Given the description of an element on the screen output the (x, y) to click on. 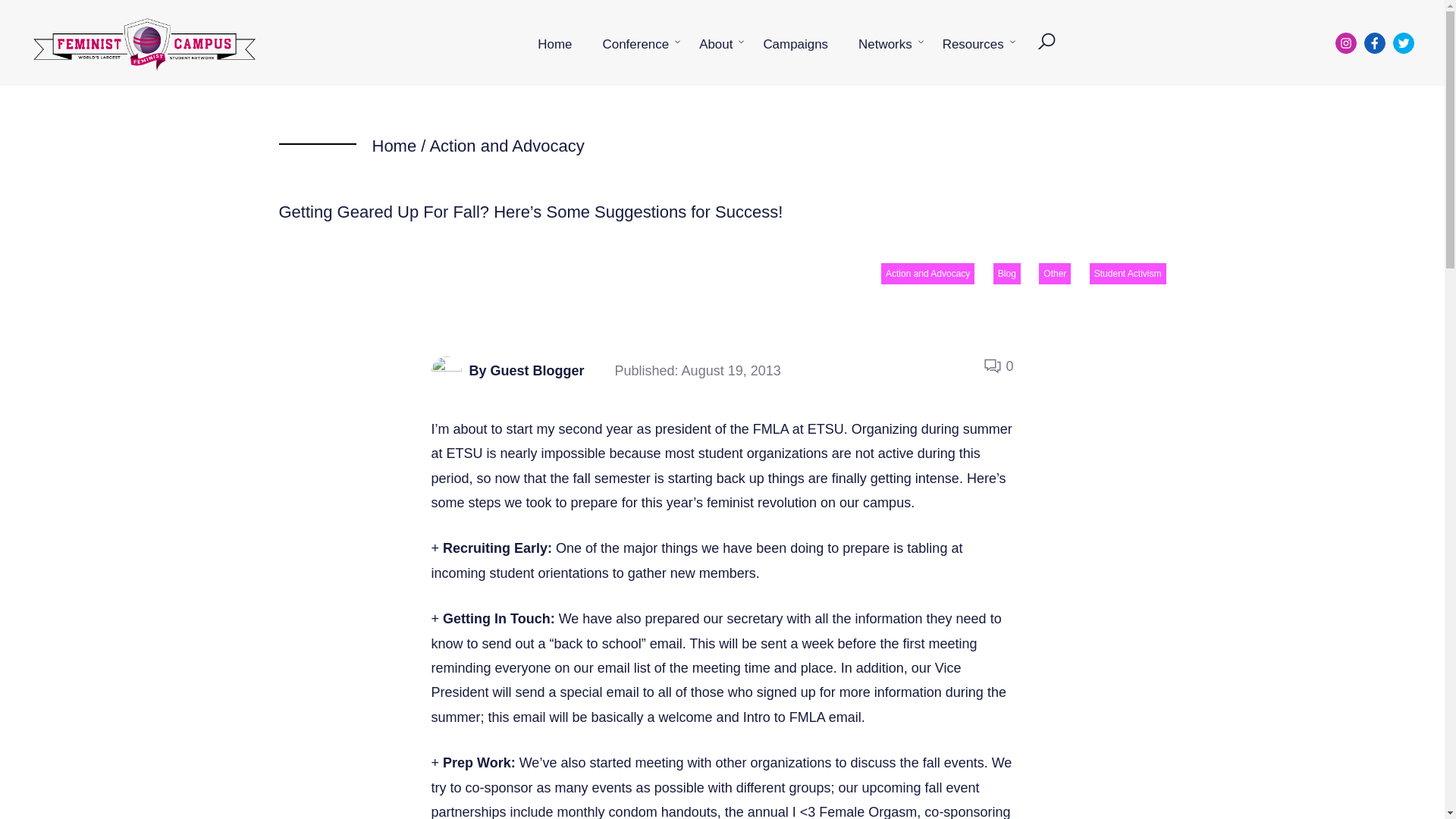
Resources (973, 44)
Networks (885, 44)
Conference (636, 44)
Campaigns (795, 44)
Home (554, 44)
About (716, 44)
Home (393, 145)
